Given the description of an element on the screen output the (x, y) to click on. 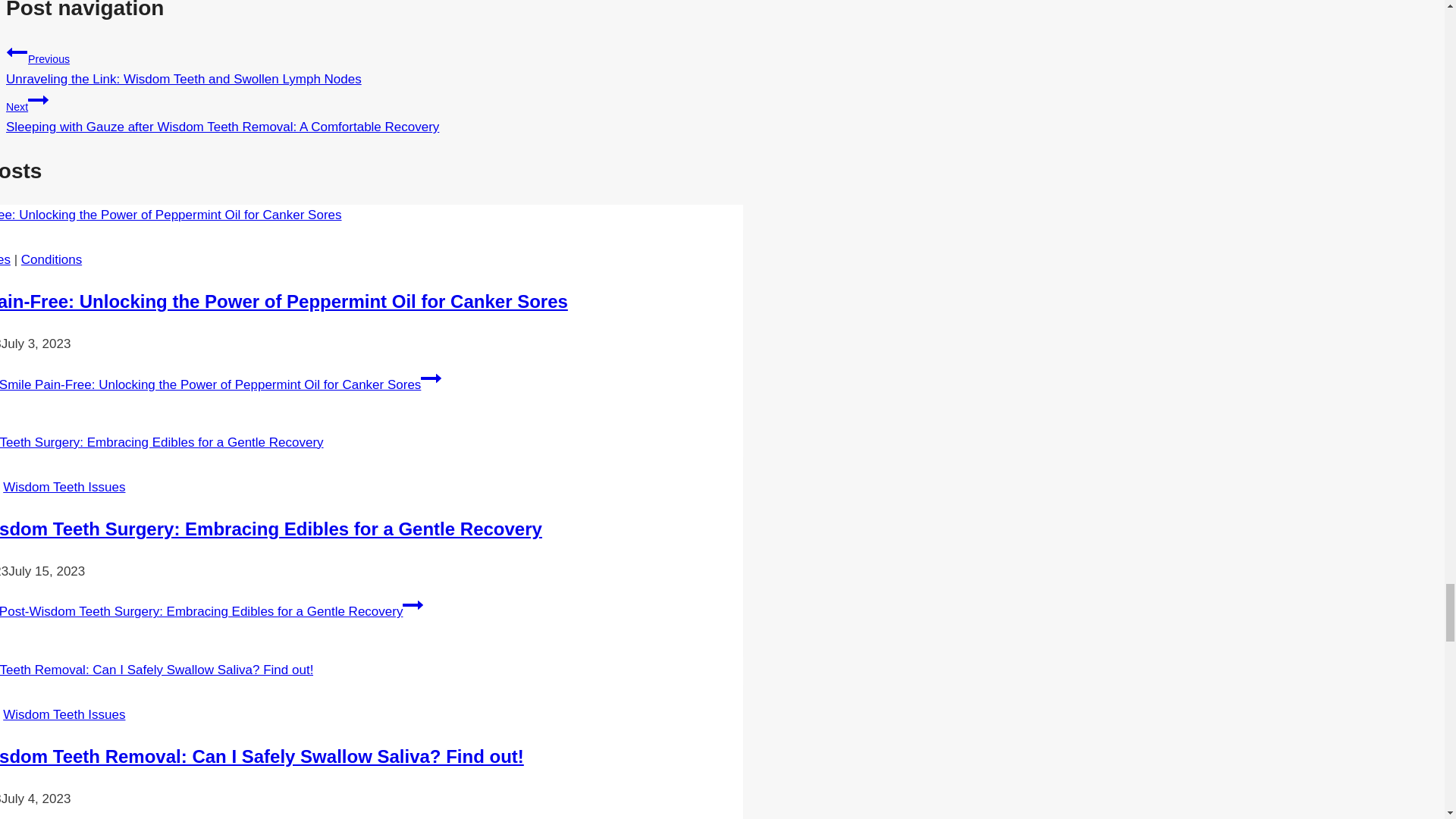
Conditions (51, 259)
Previous (16, 52)
Continue (37, 99)
Continue (413, 604)
Continue (430, 378)
